Given the description of an element on the screen output the (x, y) to click on. 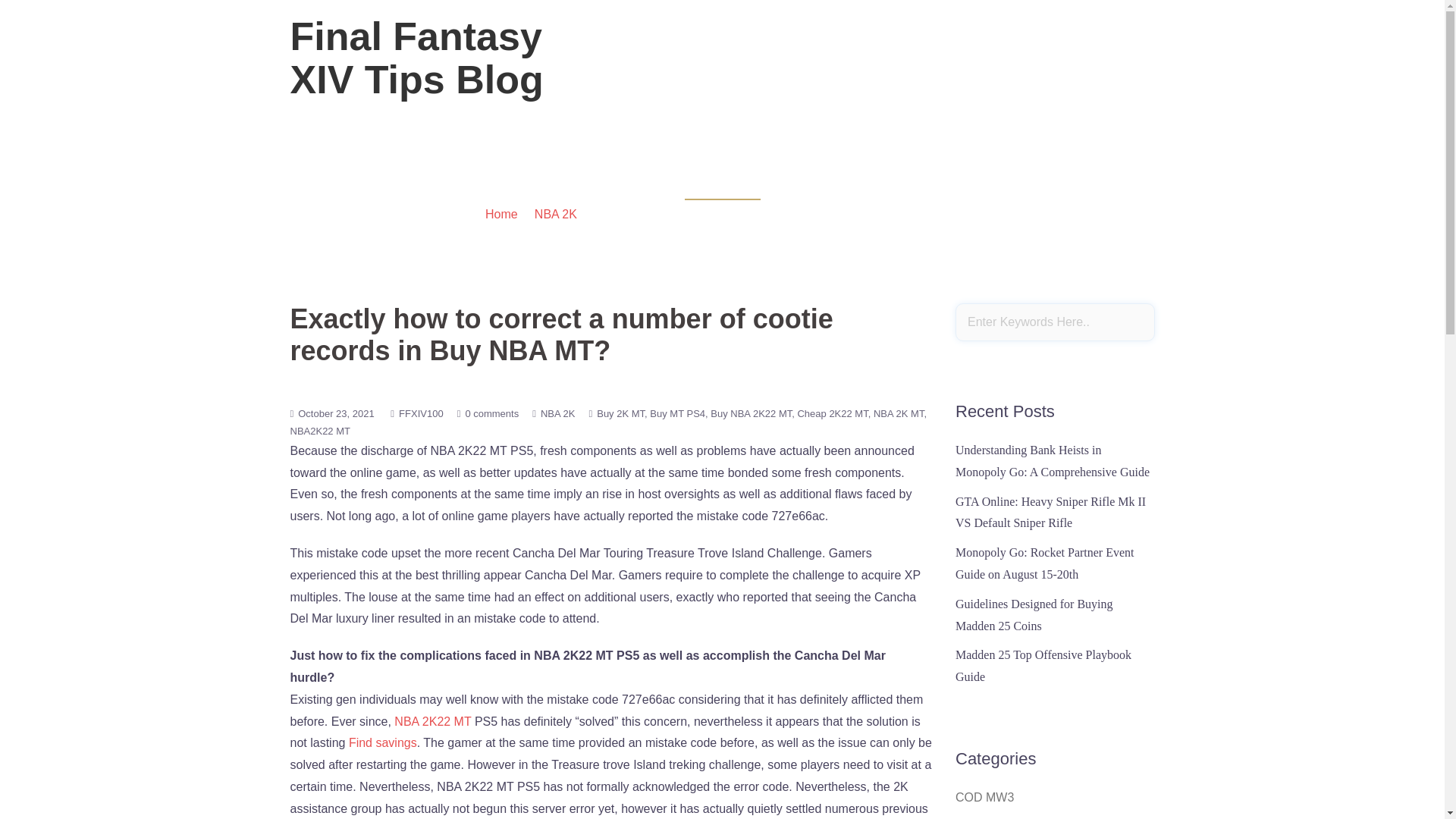
NBA 2K MT (899, 413)
Find savings (382, 742)
COD MW3 (984, 797)
Buy NBA 2K22 MT (753, 413)
Final Fantasy XIV Tips Blog (416, 57)
GTA Online: Heavy Sniper Rifle Mk II VS Default Sniper Rifle (1050, 512)
Buy MT PS4 (679, 413)
Search (50, 18)
October 23, 2021 (336, 413)
Sample Page (1111, 67)
